Given the description of an element on the screen output the (x, y) to click on. 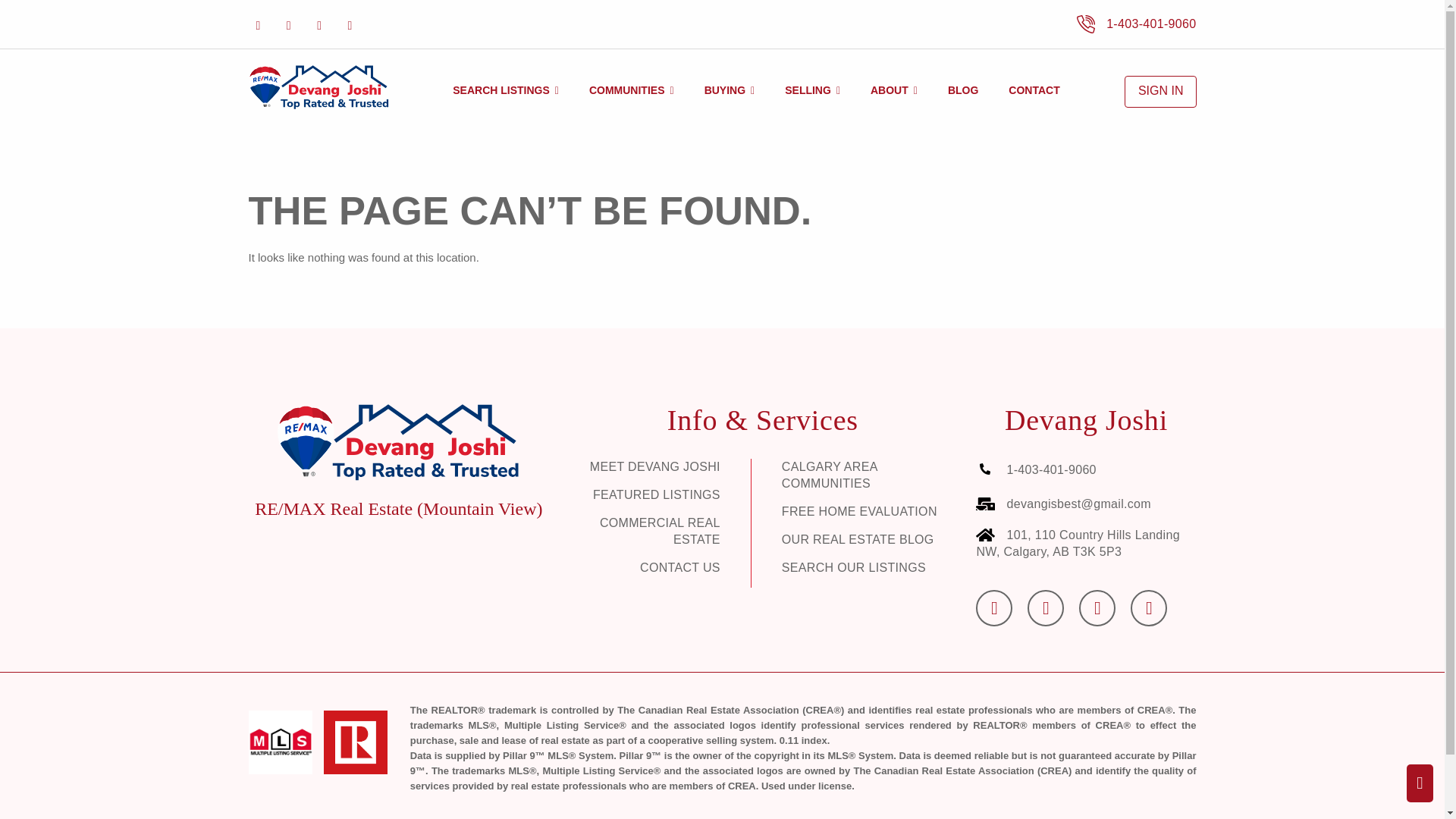
Devang Joshi (318, 87)
COMMUNITIES (631, 90)
1-403-401-9060 (1136, 23)
BUYING (730, 90)
SEARCH LISTINGS (505, 90)
